Given the description of an element on the screen output the (x, y) to click on. 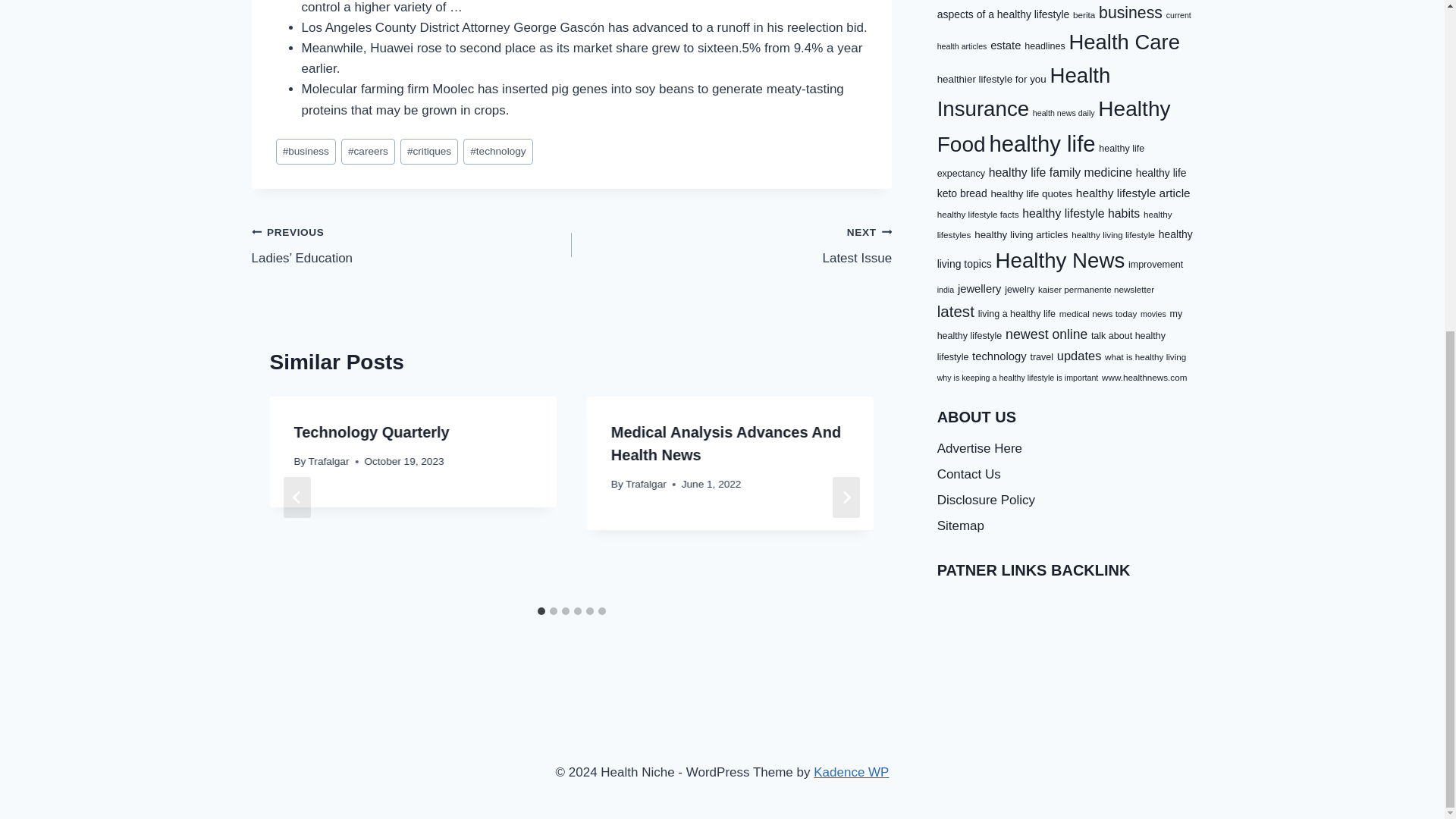
business (731, 245)
critiques (306, 151)
careers (429, 151)
technology (367, 151)
Technology Quarterly (497, 151)
Trafalgar (371, 432)
